Given the description of an element on the screen output the (x, y) to click on. 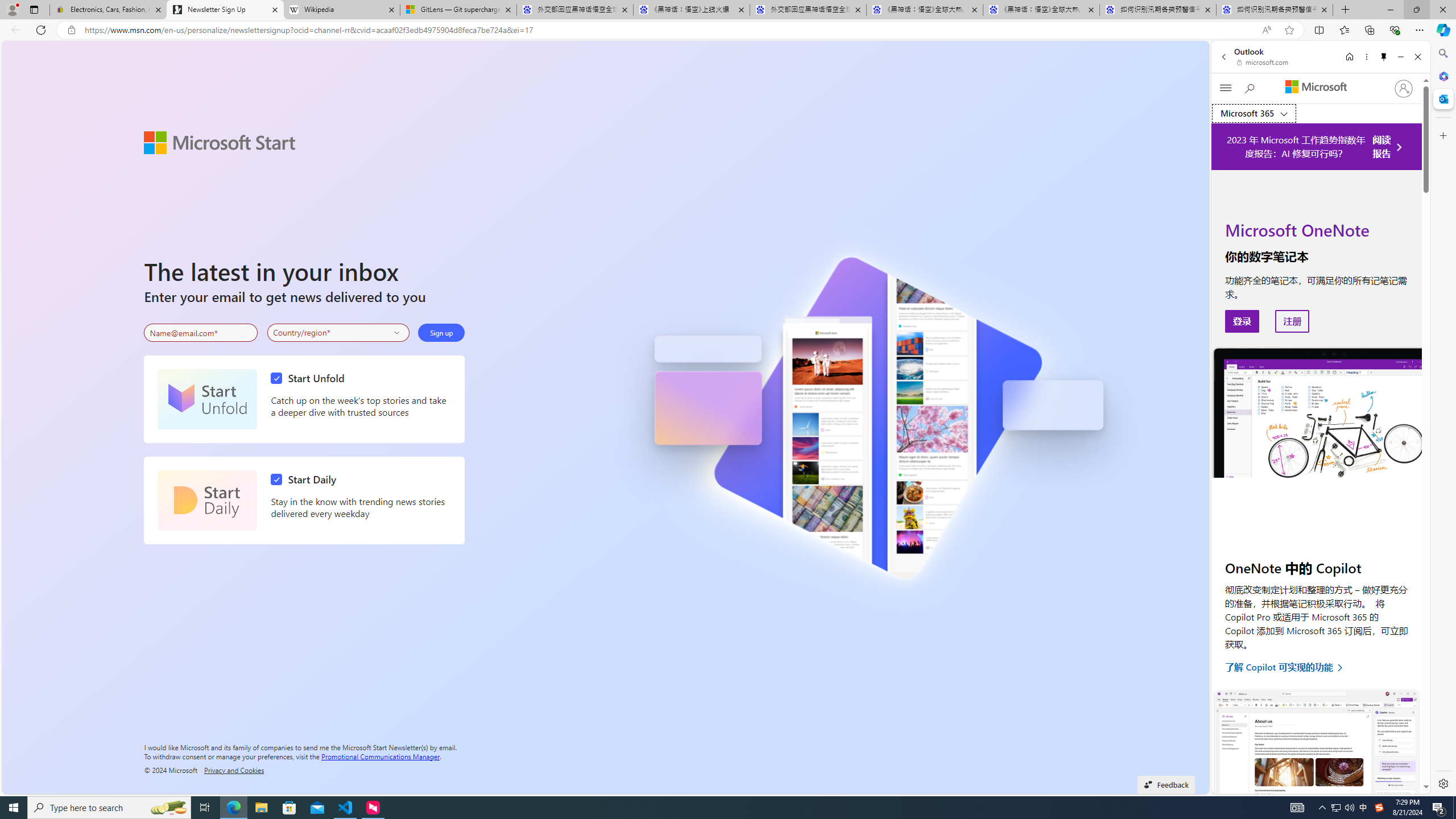
Microsoft 365 (1442, 76)
Promotional Communications Manager (380, 755)
Newsletter Sign Up (224, 9)
microsoft.com (1263, 61)
Start Daily (306, 479)
Microsoft Start (219, 142)
Start Unfold (310, 378)
